Given the description of an element on the screen output the (x, y) to click on. 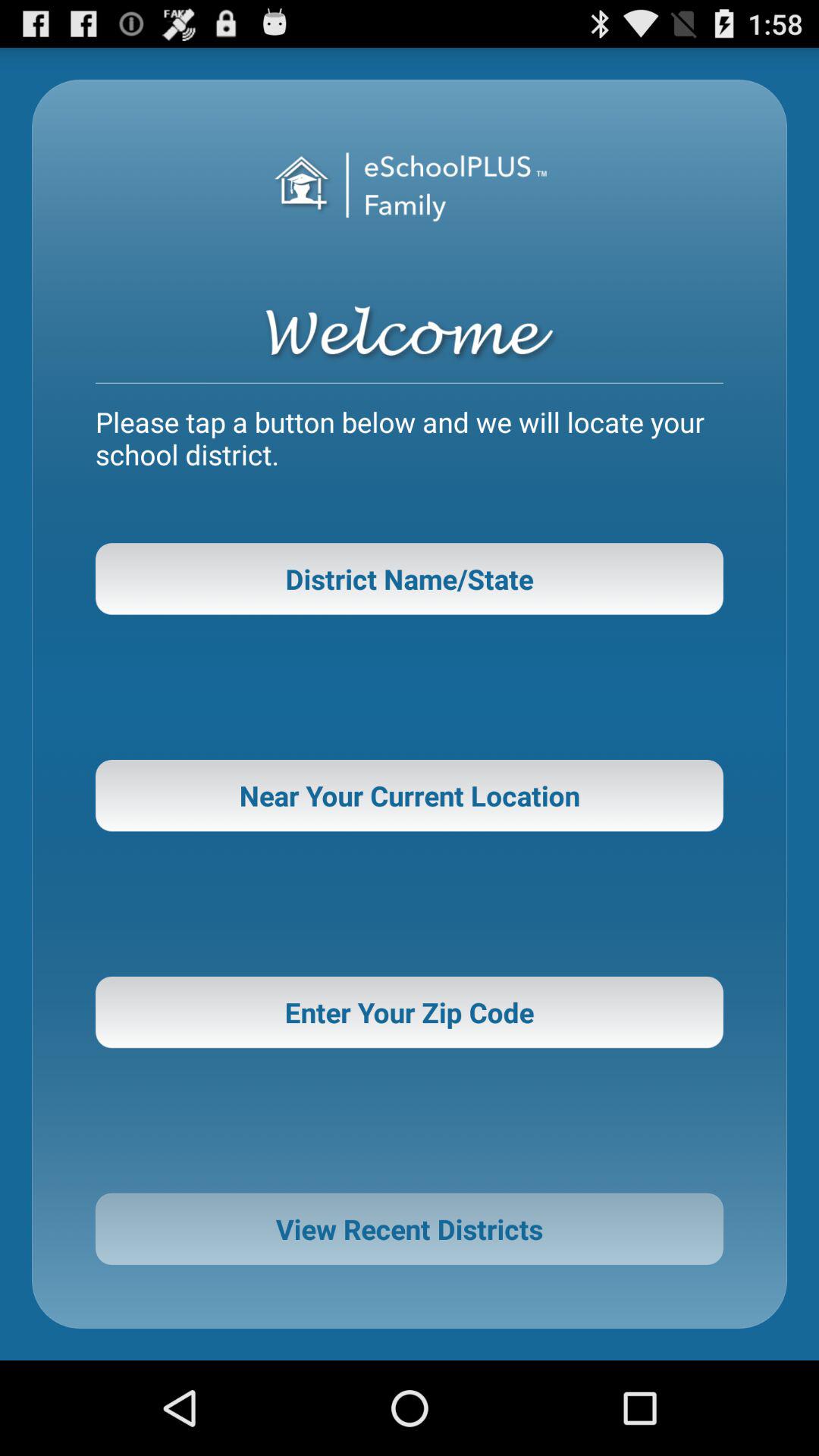
jump until enter your zip (409, 1012)
